Given the description of an element on the screen output the (x, y) to click on. 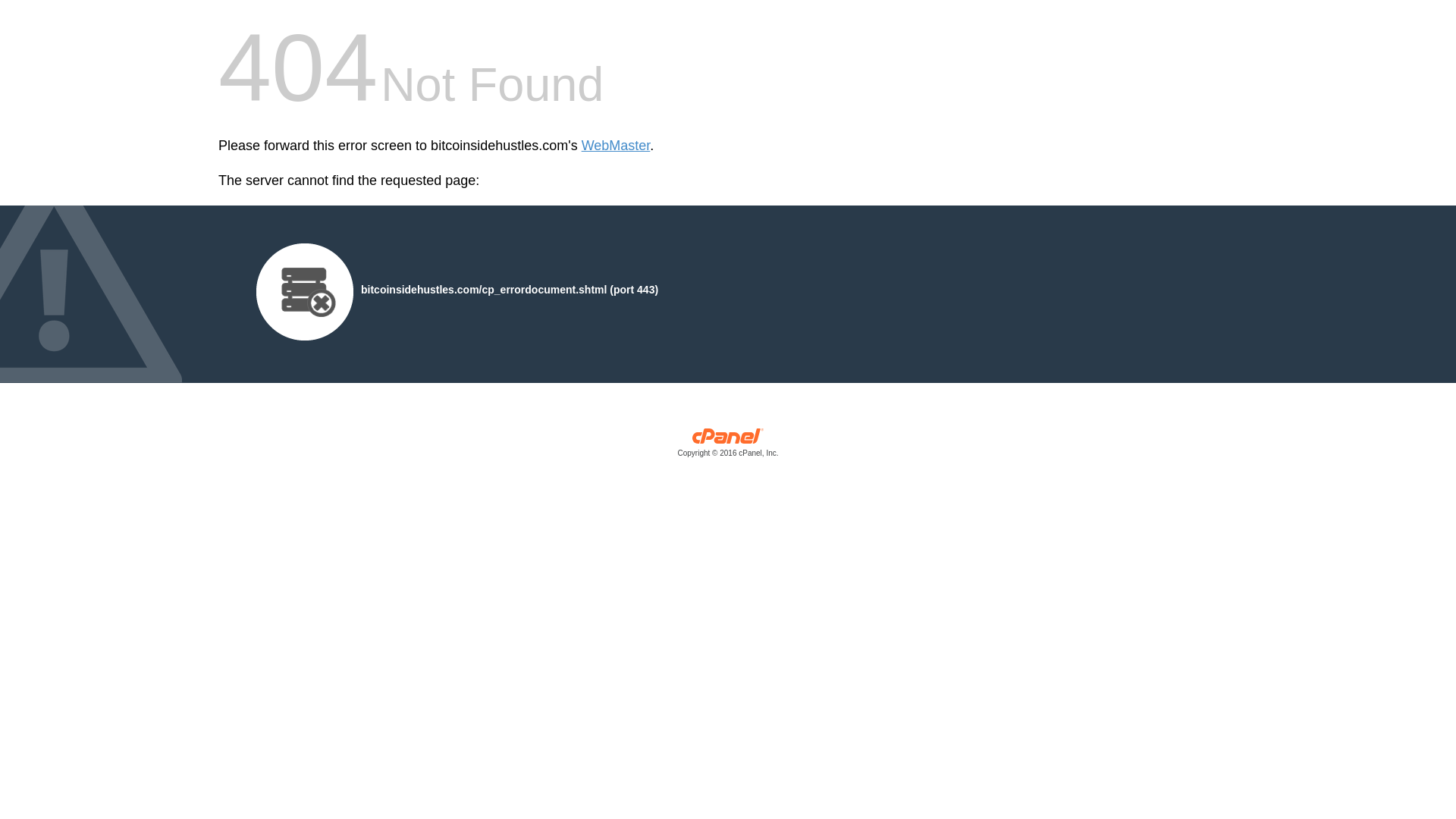
WebMaster (615, 145)
cPanel, Inc. (727, 446)
